Given the description of an element on the screen output the (x, y) to click on. 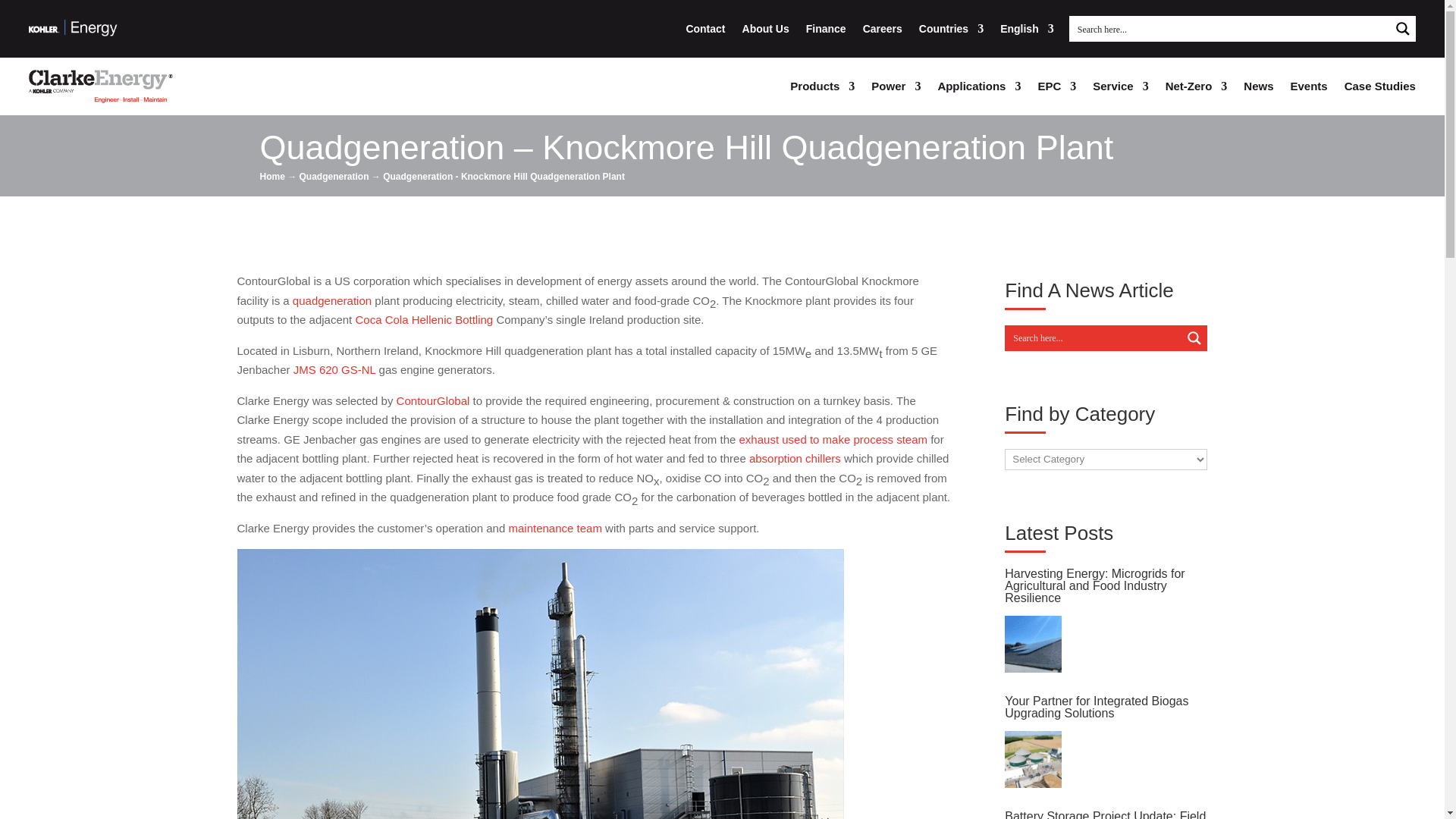
Exhaust heat boilers (833, 439)
Countries (951, 28)
Quadgeneration (331, 300)
English (1027, 28)
External Link: Coca-cola Helenic Bottlers (424, 318)
Absorption Chillers (795, 458)
External Link: Contour Global (433, 400)
English (1027, 28)
GE Jenbacher Type-6 Gas Engine (334, 369)
